Given the description of an element on the screen output the (x, y) to click on. 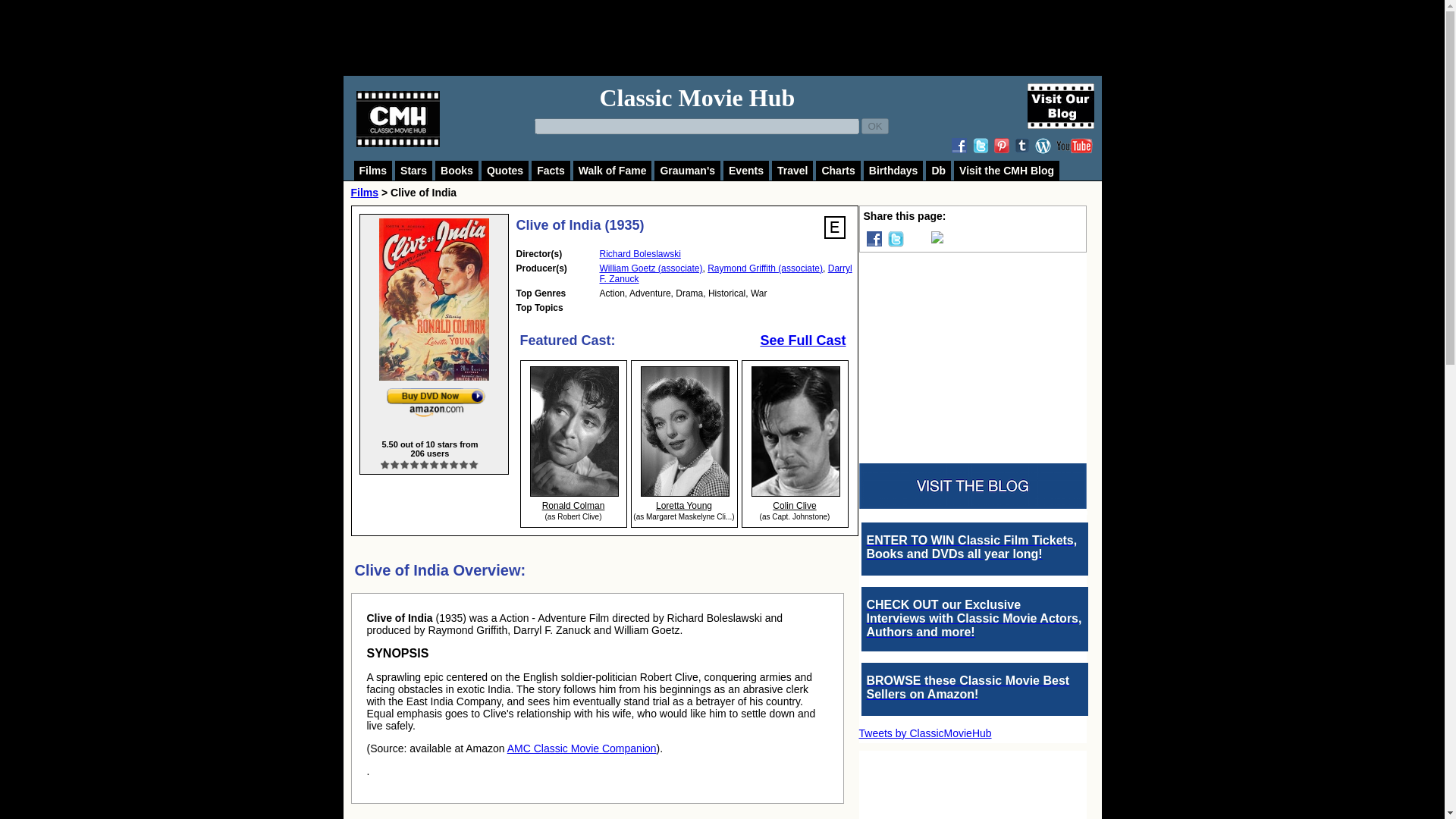
Facts (550, 170)
Classic Movie Hub (696, 97)
Quotes (504, 170)
Stars (413, 170)
Okay, but not for me (405, 465)
Enjoyed it, might watch again (424, 465)
Visit Classic Movie Hub Blog (1059, 105)
Login (834, 227)
Like it, never disappoints (444, 465)
Films (372, 170)
